Given the description of an element on the screen output the (x, y) to click on. 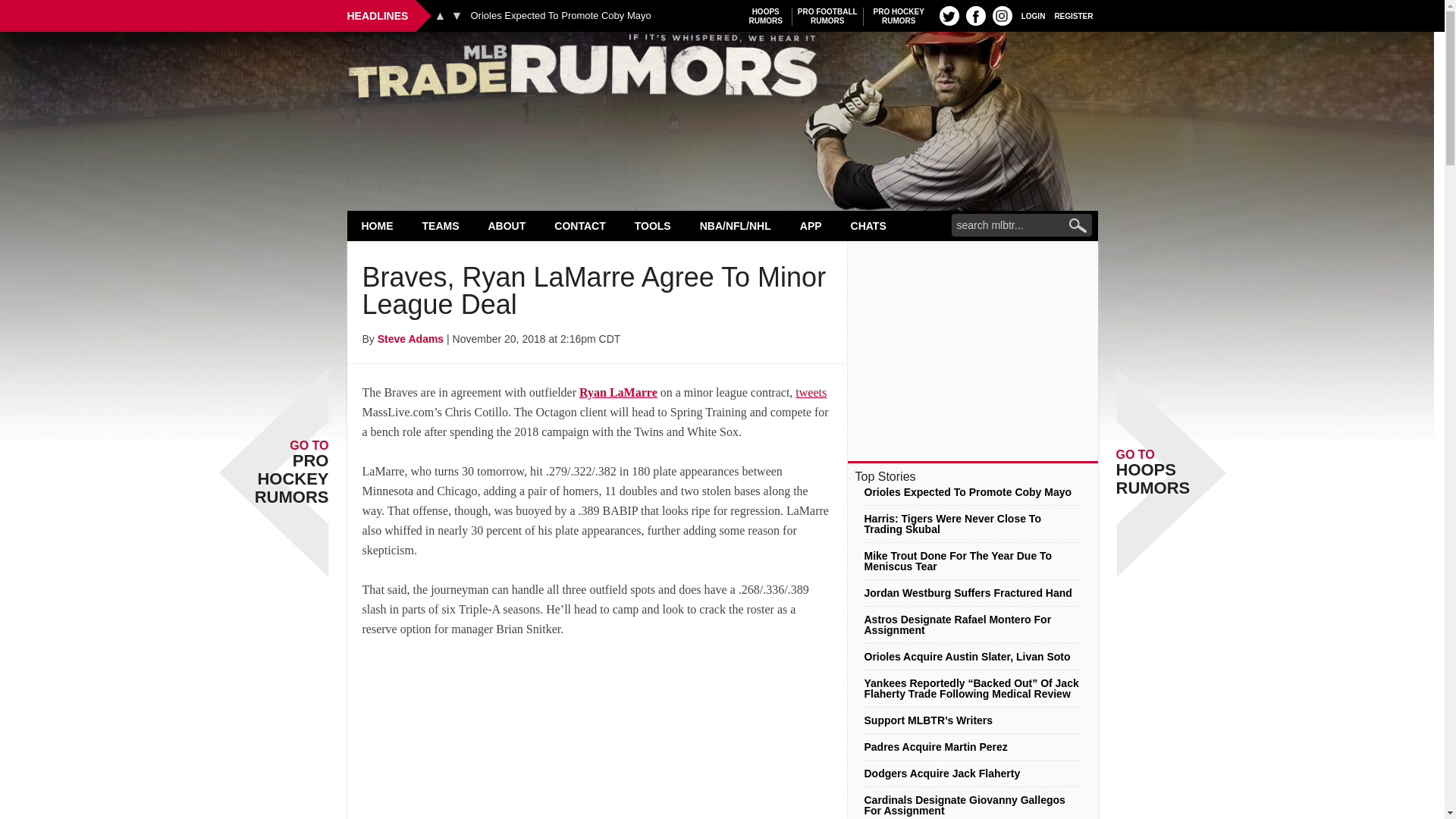
HOME (377, 225)
Instagram profile (898, 16)
Next (1001, 15)
TEAMS (456, 15)
Search (440, 225)
Twitter profile (722, 69)
LOGIN (949, 15)
REGISTER (1032, 15)
Orioles Expected To Promote Coby Mayo (765, 16)
Previous (1073, 15)
FB profile (560, 15)
